Given the description of an element on the screen output the (x, y) to click on. 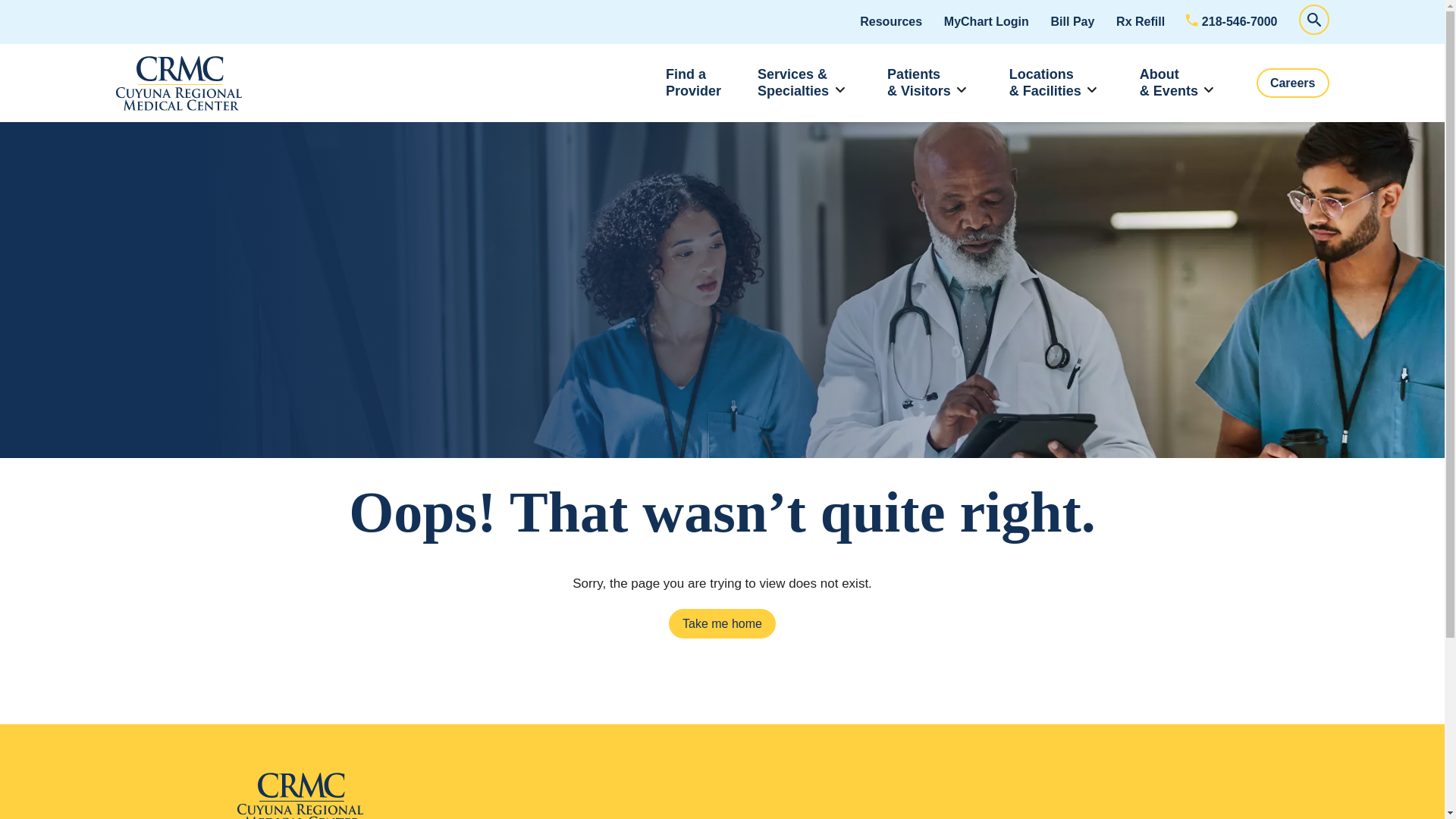
MyChart Login (986, 21)
Rx Refill (1139, 21)
Search Toggle (1312, 19)
Interwest (692, 82)
SafeBuilt (178, 82)
218-546-7000 (389, 796)
Resources (1232, 21)
Bill Pay (890, 21)
